Given the description of an element on the screen output the (x, y) to click on. 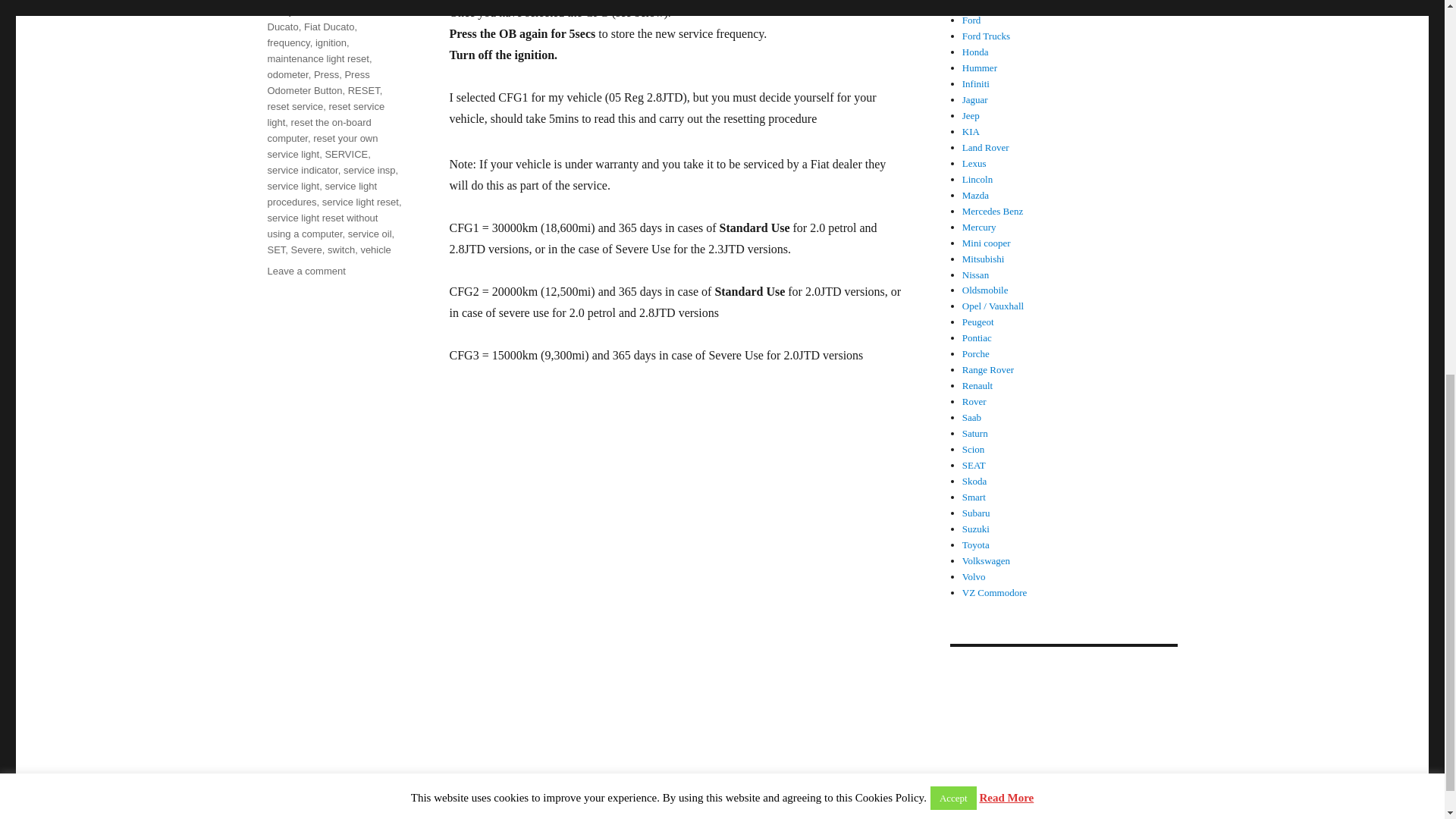
reset your own service light (321, 145)
briefly (279, 10)
Press (326, 74)
Severe (306, 249)
maintenance light reset (317, 58)
Ducato (282, 26)
button (311, 10)
service indicator (301, 170)
vehicle (374, 249)
Press Odometer Button (317, 82)
